Given the description of an element on the screen output the (x, y) to click on. 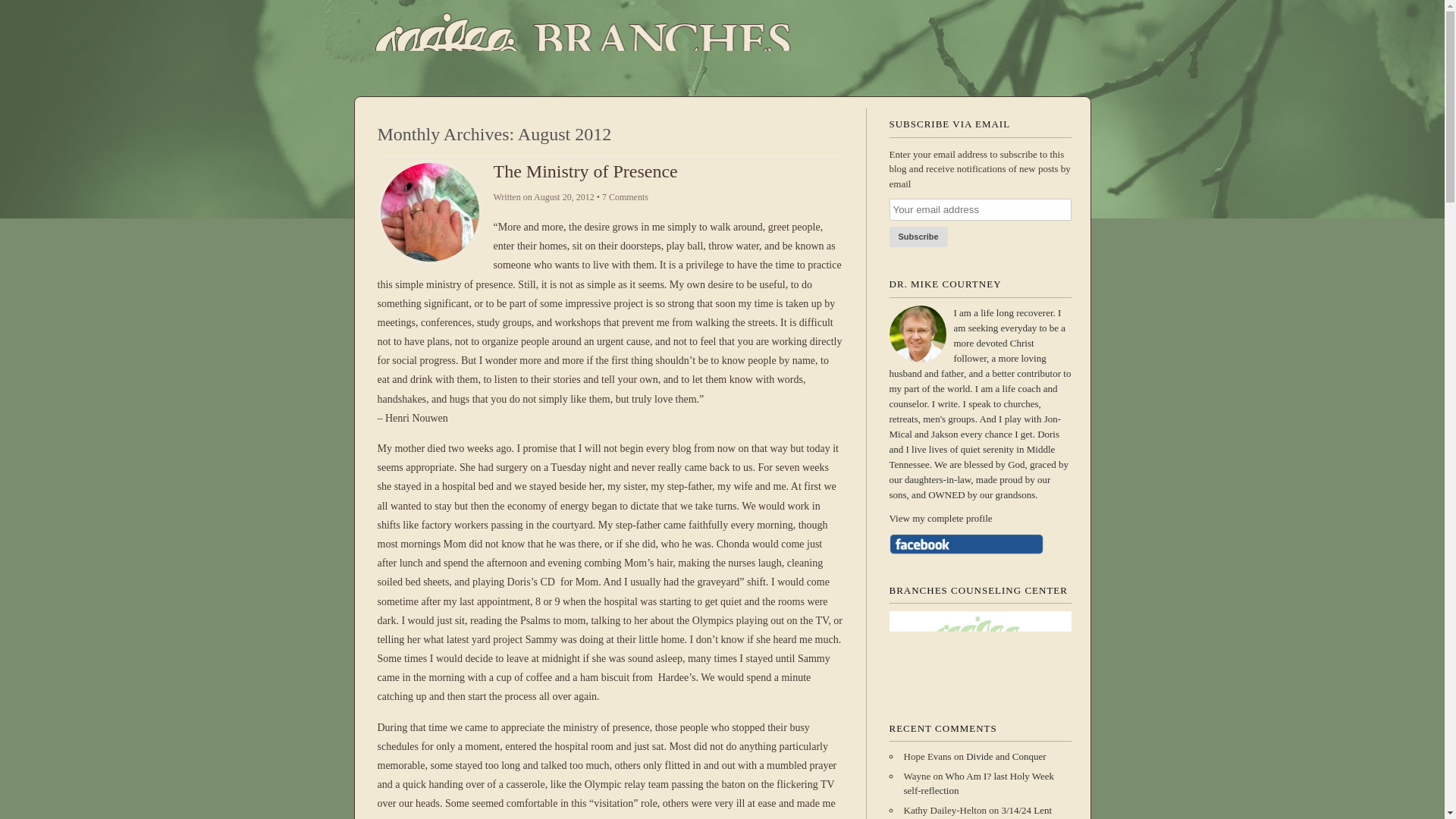
Subscribe (917, 236)
7 Comments (624, 196)
View my complete profile (979, 518)
Divide and Conquer (1005, 756)
The Ministry of Presence (585, 170)
The Ministry of Presence (585, 170)
Who Am I? last Holy Week self-reflection (979, 783)
Subscribe (917, 236)
